Given the description of an element on the screen output the (x, y) to click on. 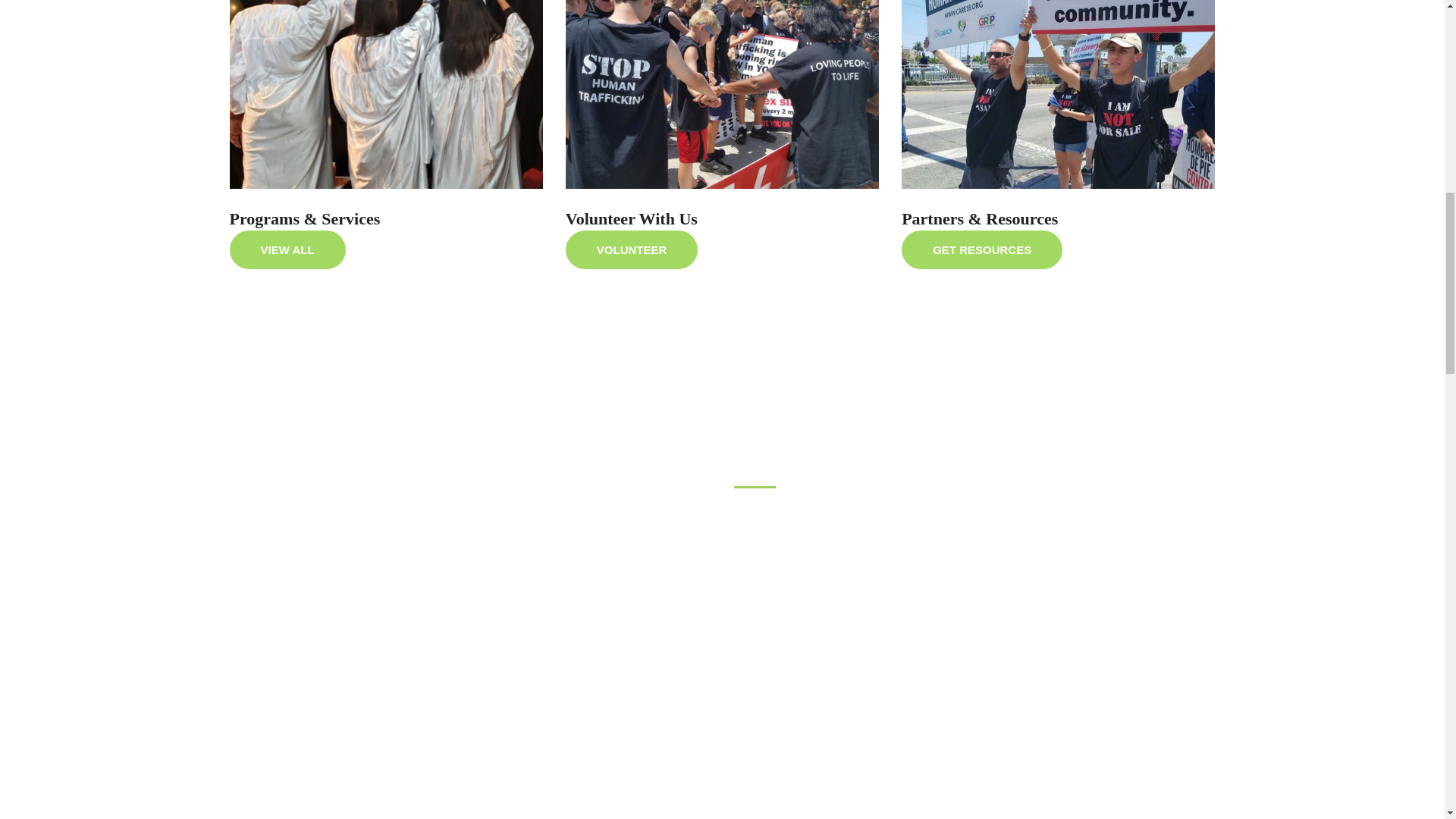
protest-signs-800 (1057, 94)
Gems Uncovered Trailer (469, 563)
GET RESOURCES (981, 250)
graduation-girls (384, 94)
VOLUNTEER (632, 250)
VIEW ALL (286, 250)
team-praying (722, 94)
